Given the description of an element on the screen output the (x, y) to click on. 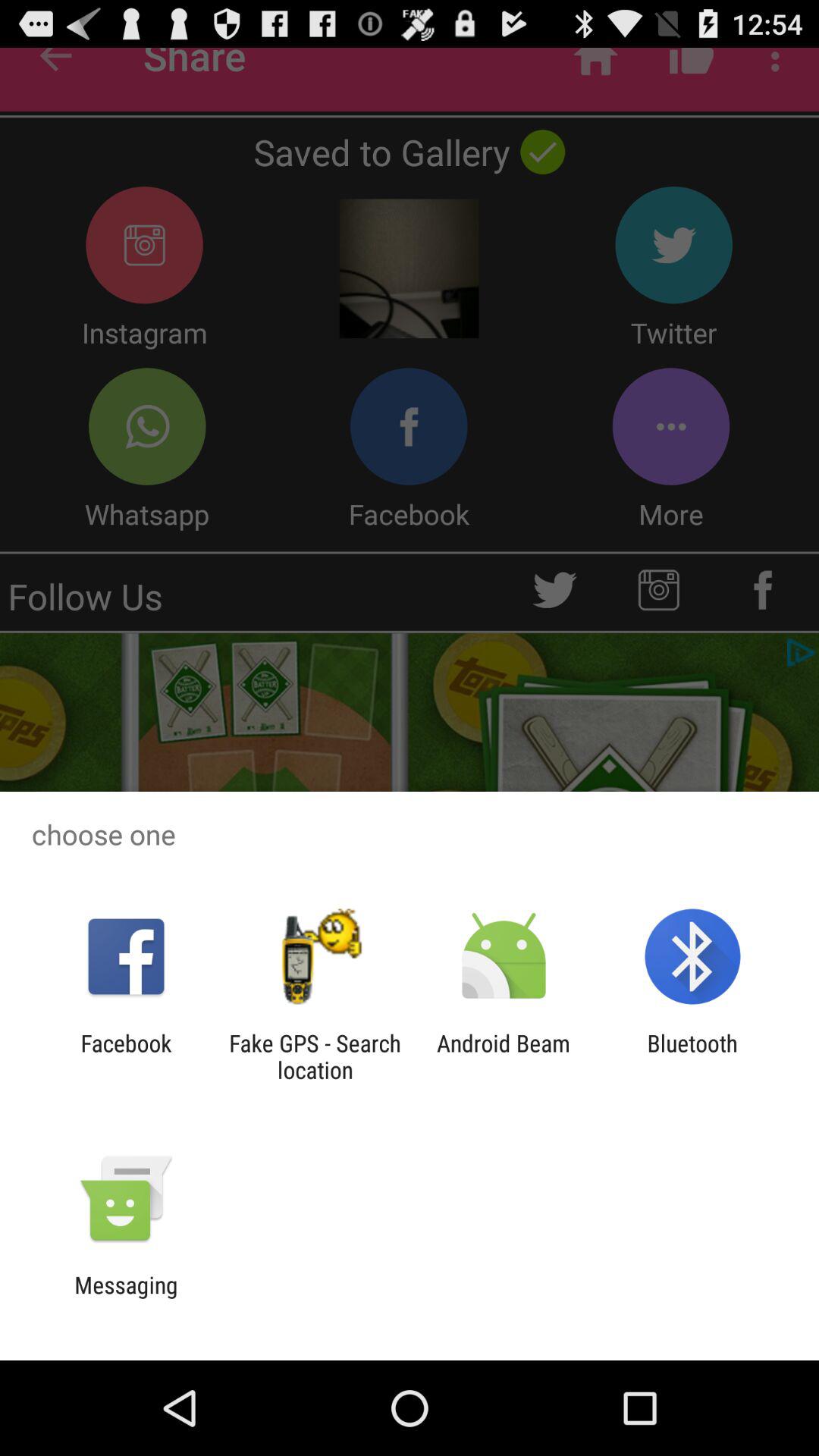
tap the item next to the fake gps search app (125, 1056)
